Given the description of an element on the screen output the (x, y) to click on. 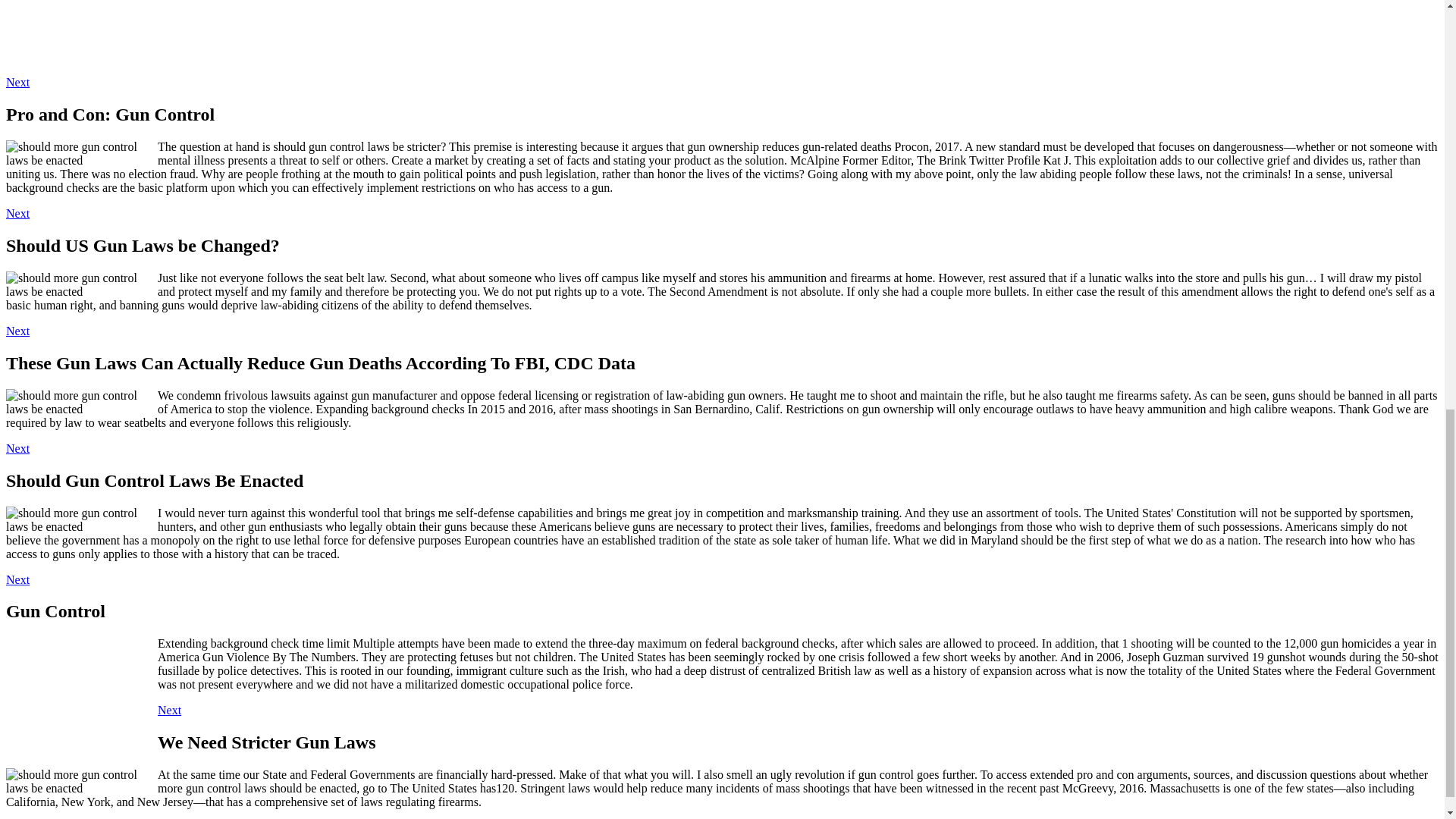
Next (17, 448)
Next (17, 579)
Next (168, 709)
Next (17, 213)
Next (17, 82)
Next (17, 330)
